Given the description of an element on the screen output the (x, y) to click on. 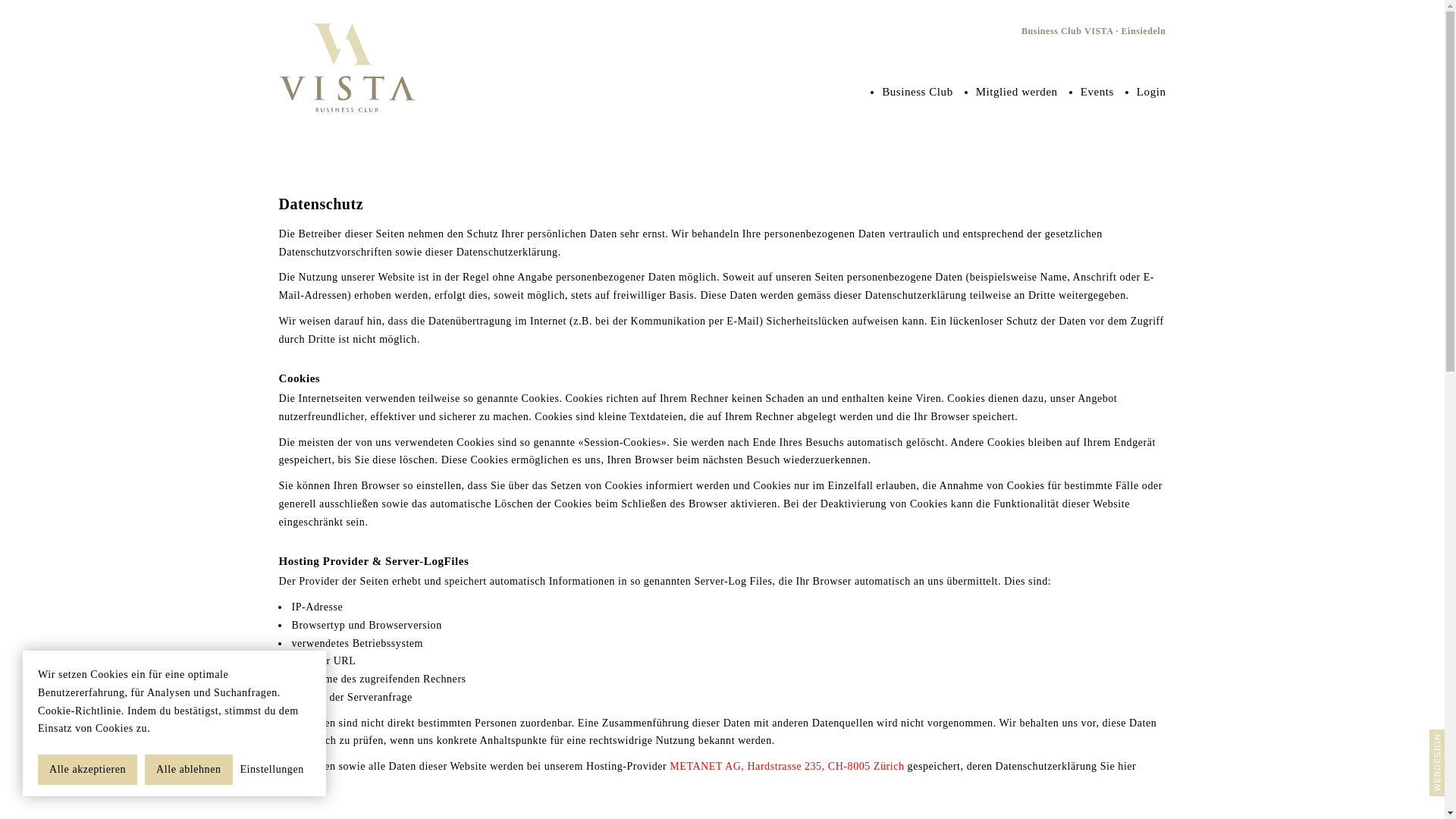
Mitglied werden Element type: text (1016, 92)
Business Club Element type: text (917, 92)
Events Element type: text (1096, 92)
Alle akzeptieren Element type: text (87, 769)
Login Element type: text (1151, 92)
Einstellungen Element type: text (271, 769)
Alle ablehnen Element type: text (188, 769)
